Given the description of an element on the screen output the (x, y) to click on. 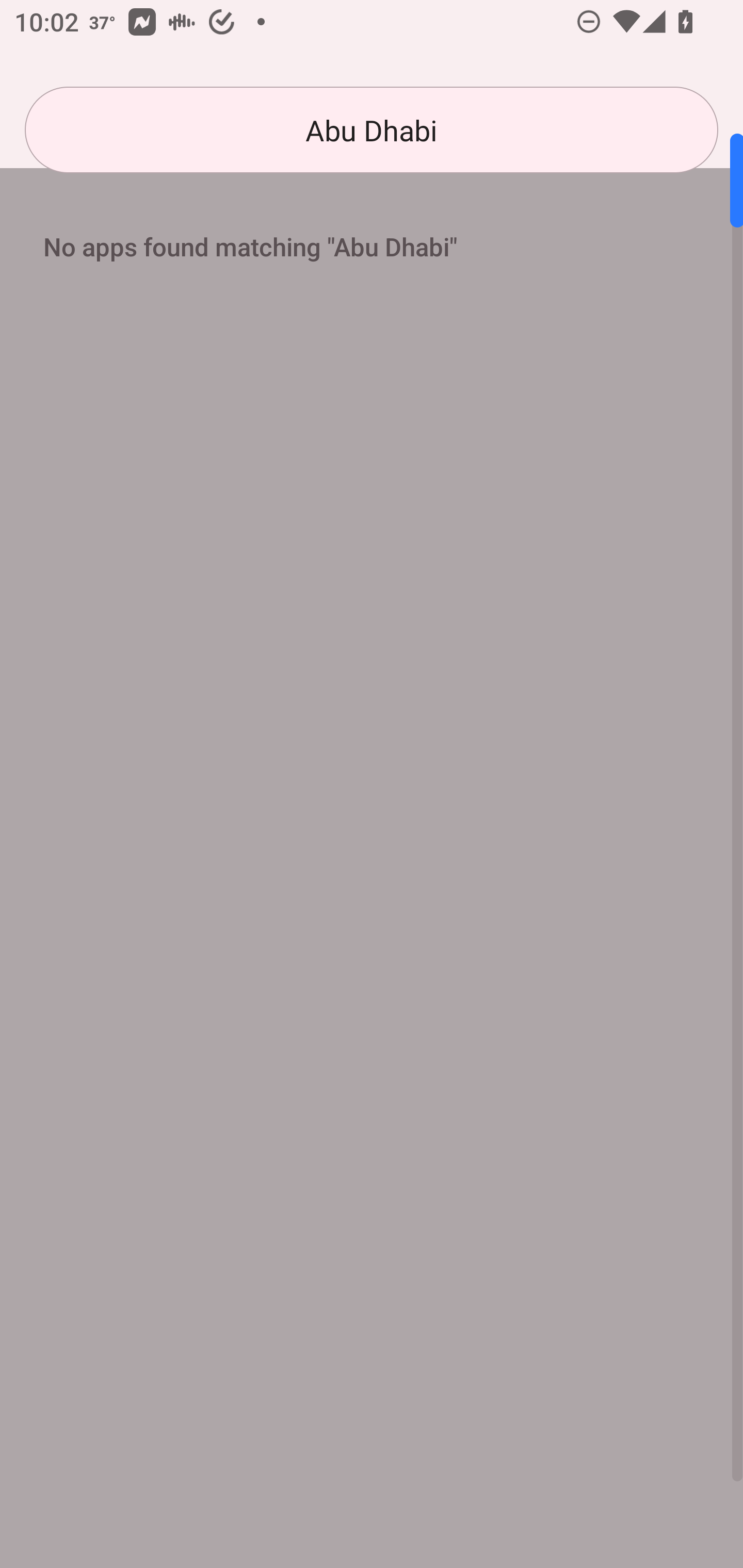
Abu Dhabi (371, 130)
